Given the description of an element on the screen output the (x, y) to click on. 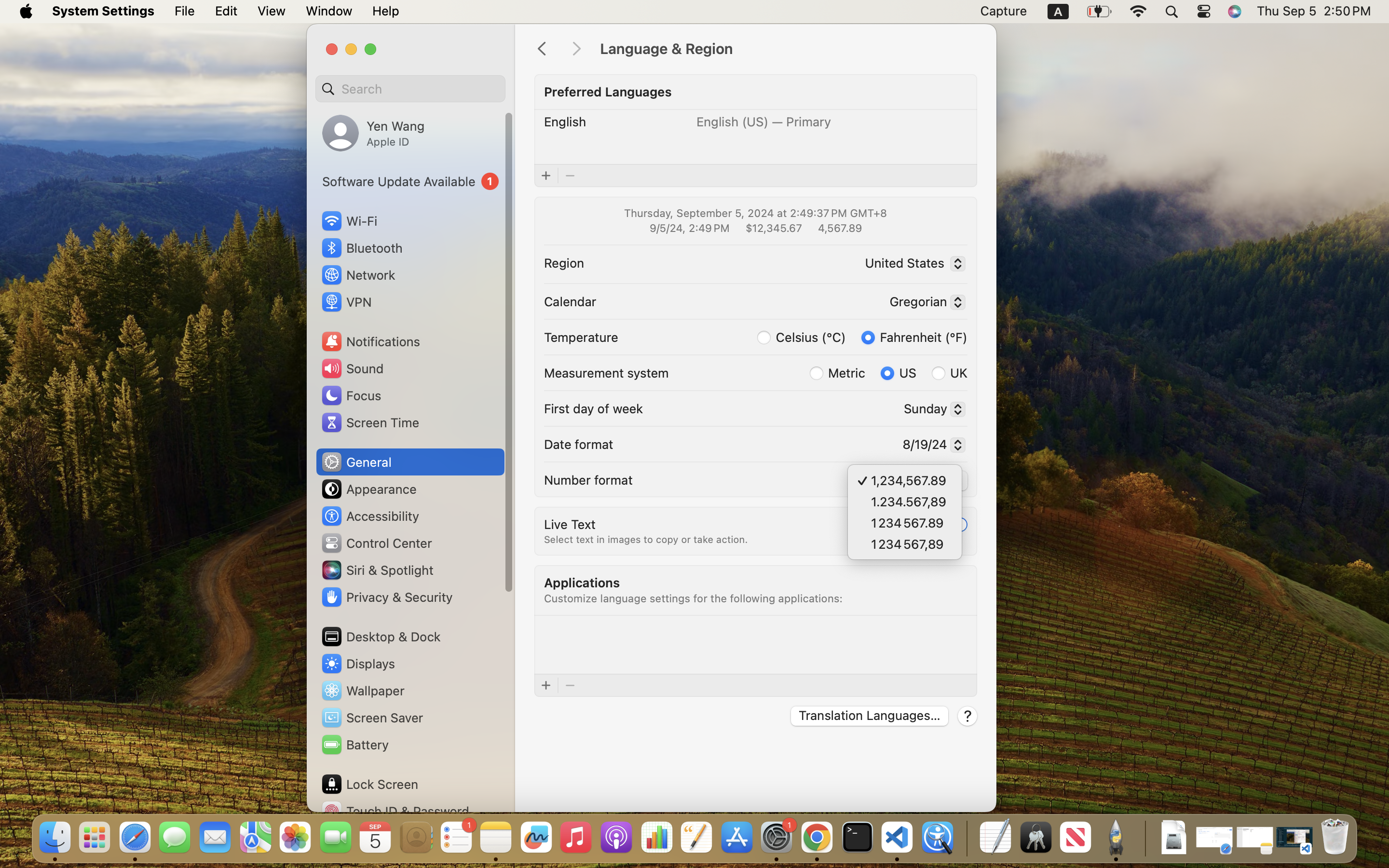
United States Element type: AXPopUpButton (912, 264)
Gregorian Element type: AXPopUpButton (923, 303)
Desktop & Dock Element type: AXStaticText (380, 636)
Focus Element type: AXStaticText (350, 394)
Screen Time Element type: AXStaticText (369, 422)
